Given the description of an element on the screen output the (x, y) to click on. 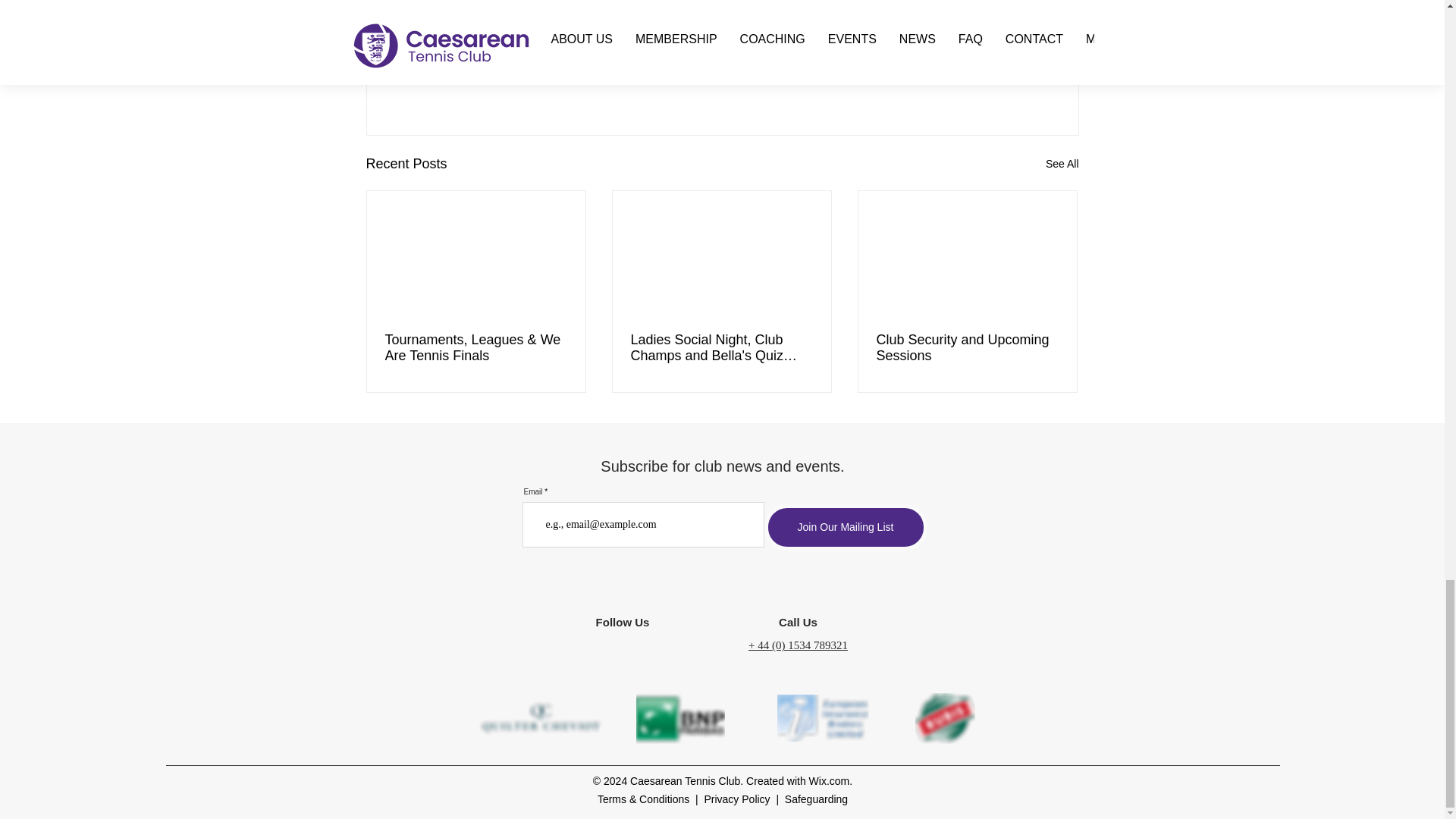
Join Our Mailing List (845, 527)
Club Security and Upcoming Sessions (967, 347)
See All (1061, 164)
Ladies Social Night, Club Champs and Bella's Quiz Night (721, 347)
bnp-paribas-logo.png (678, 717)
